Given the description of an element on the screen output the (x, y) to click on. 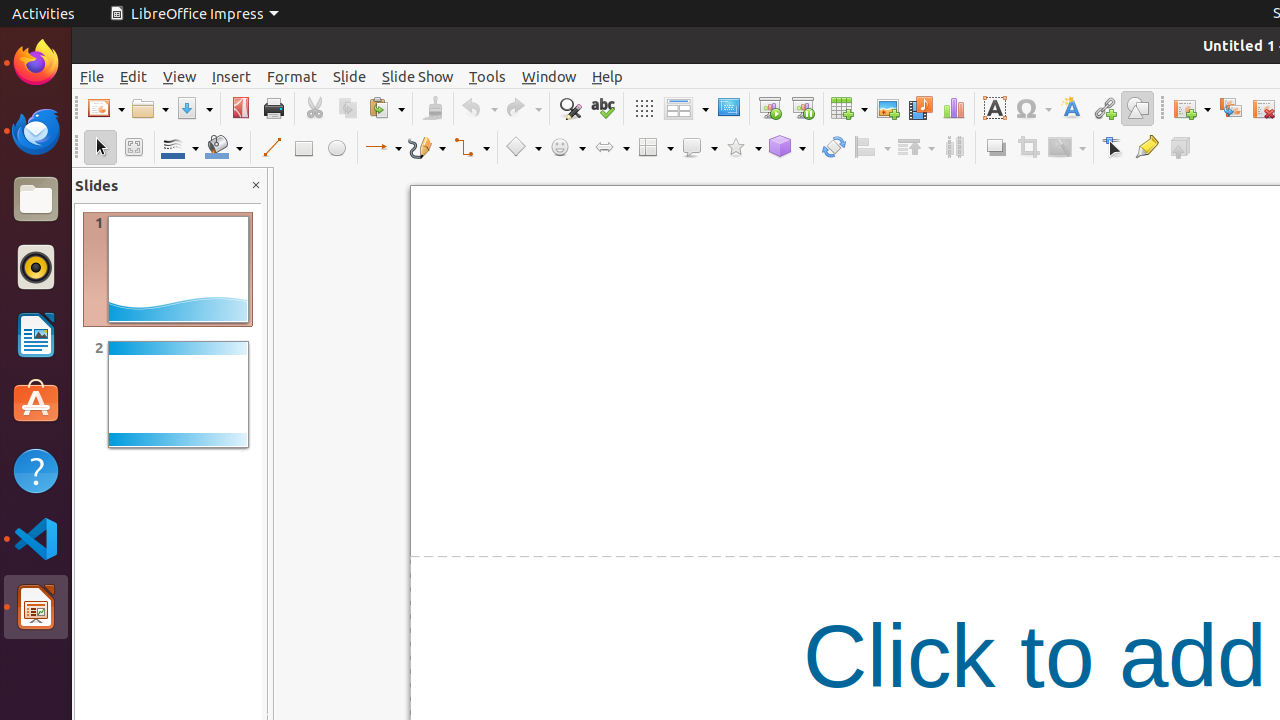
Crop Element type: push-button (1028, 147)
Slide Show Element type: menu (417, 76)
